Given the description of an element on the screen output the (x, y) to click on. 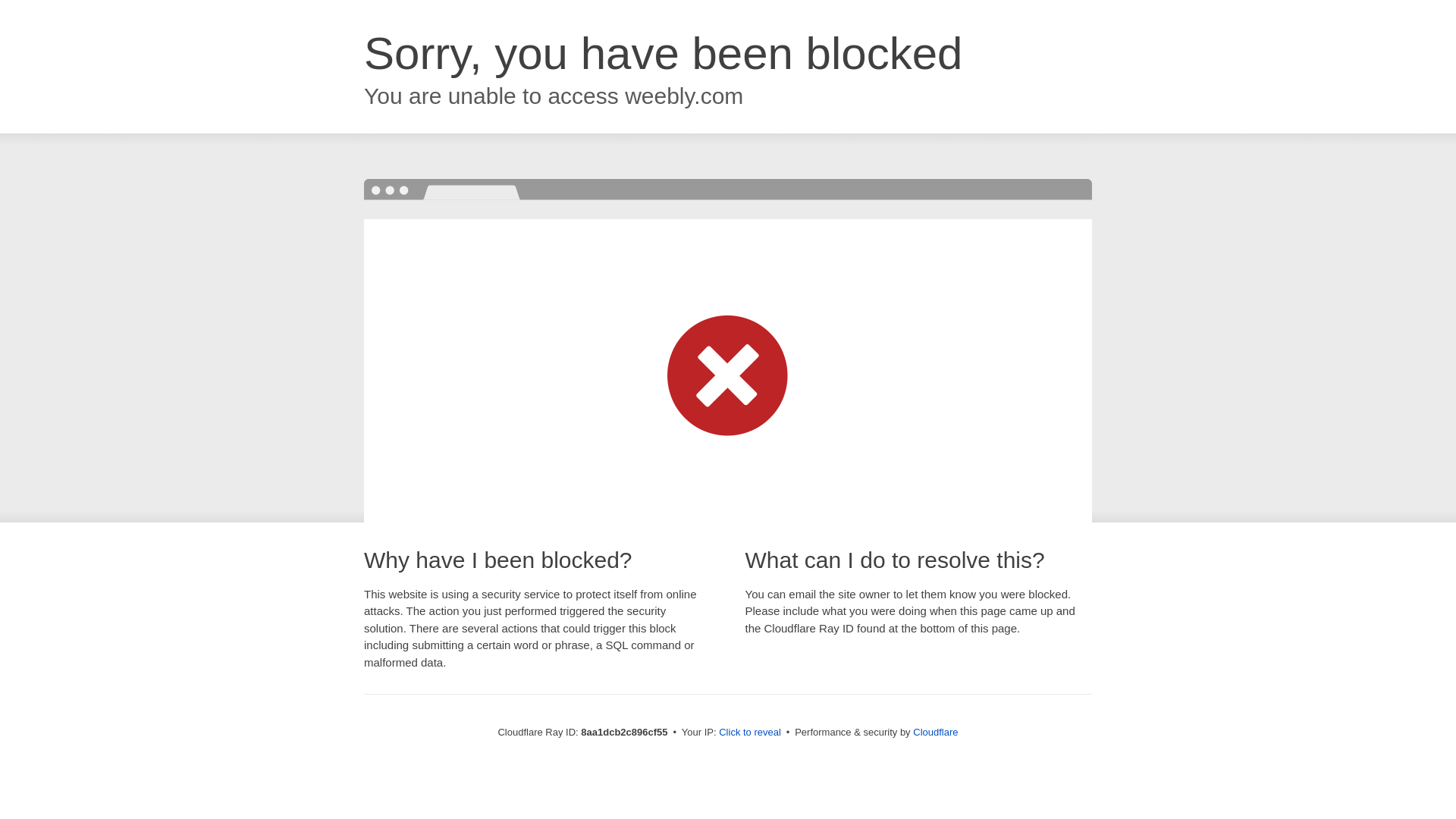
Cloudflare (935, 731)
Click to reveal (749, 732)
